Given the description of an element on the screen output the (x, y) to click on. 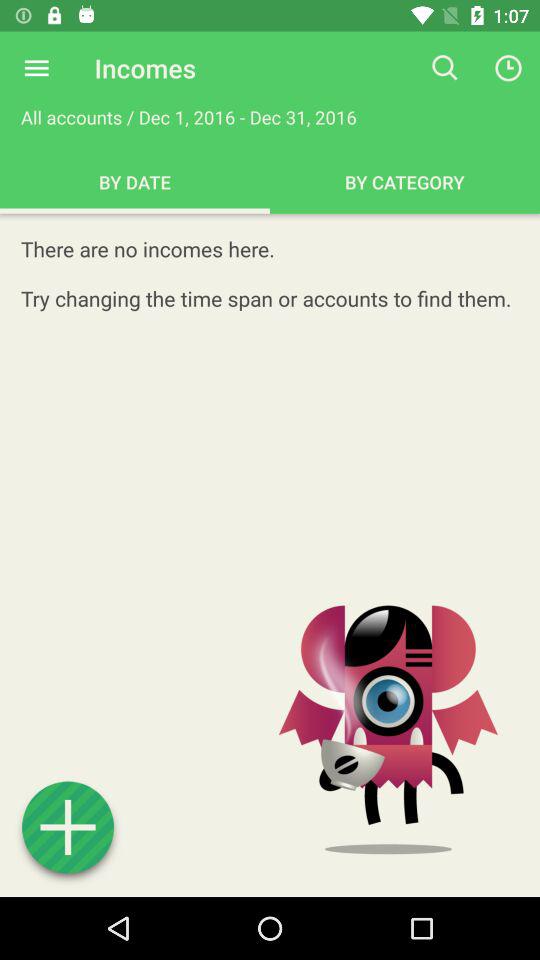
turn on the item to the left of the incomes (36, 68)
